Given the description of an element on the screen output the (x, y) to click on. 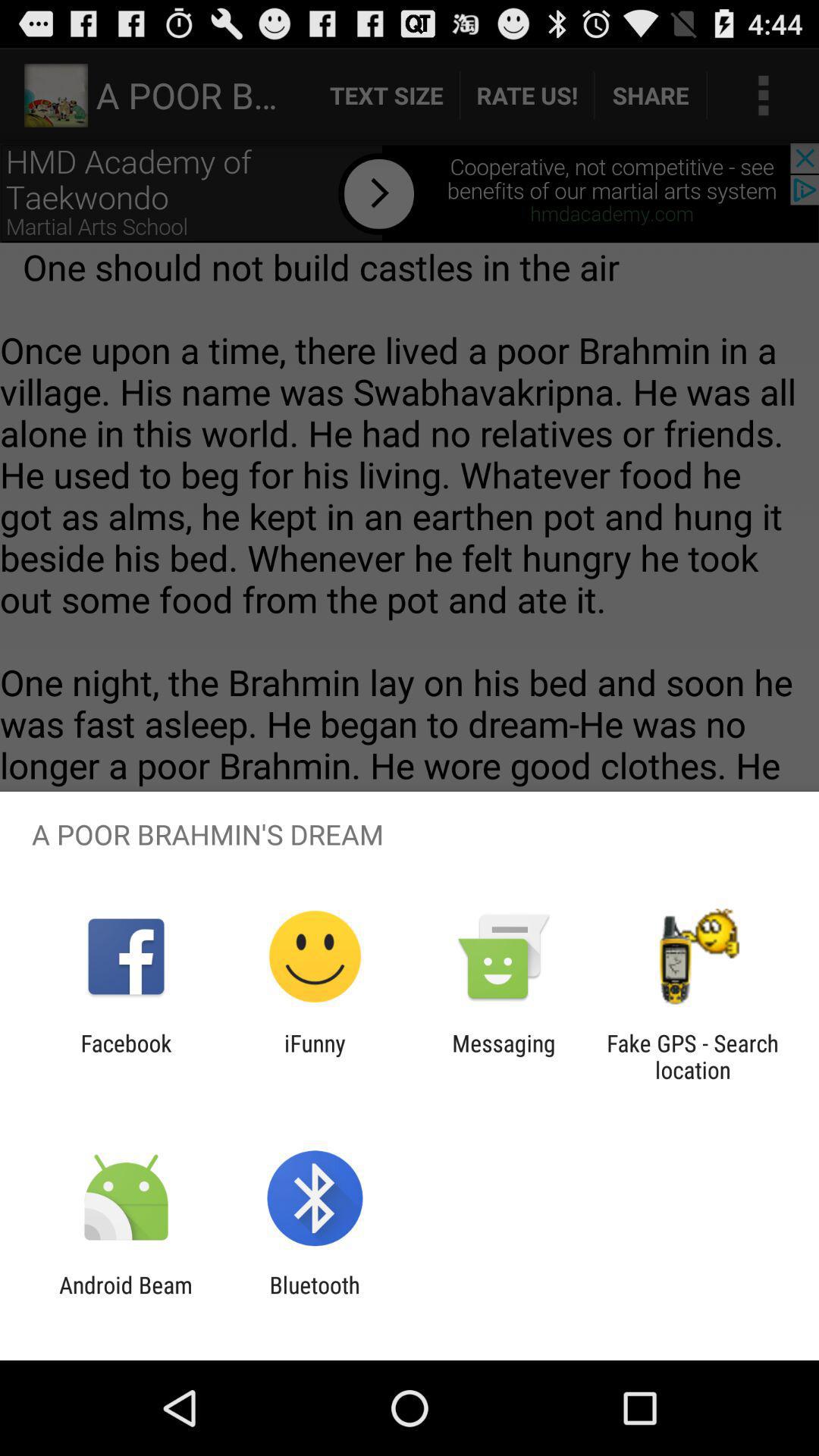
press app to the right of the messaging app (692, 1056)
